Given the description of an element on the screen output the (x, y) to click on. 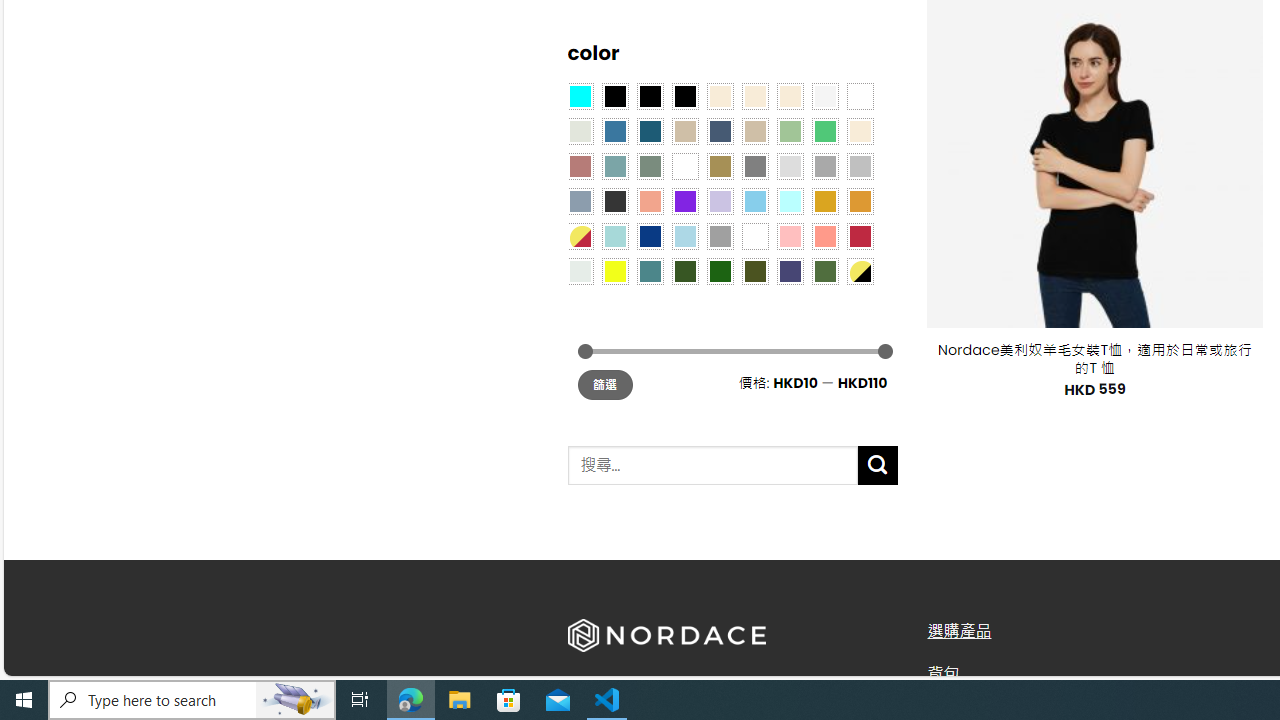
Cream (789, 95)
